Given the description of an element on the screen output the (x, y) to click on. 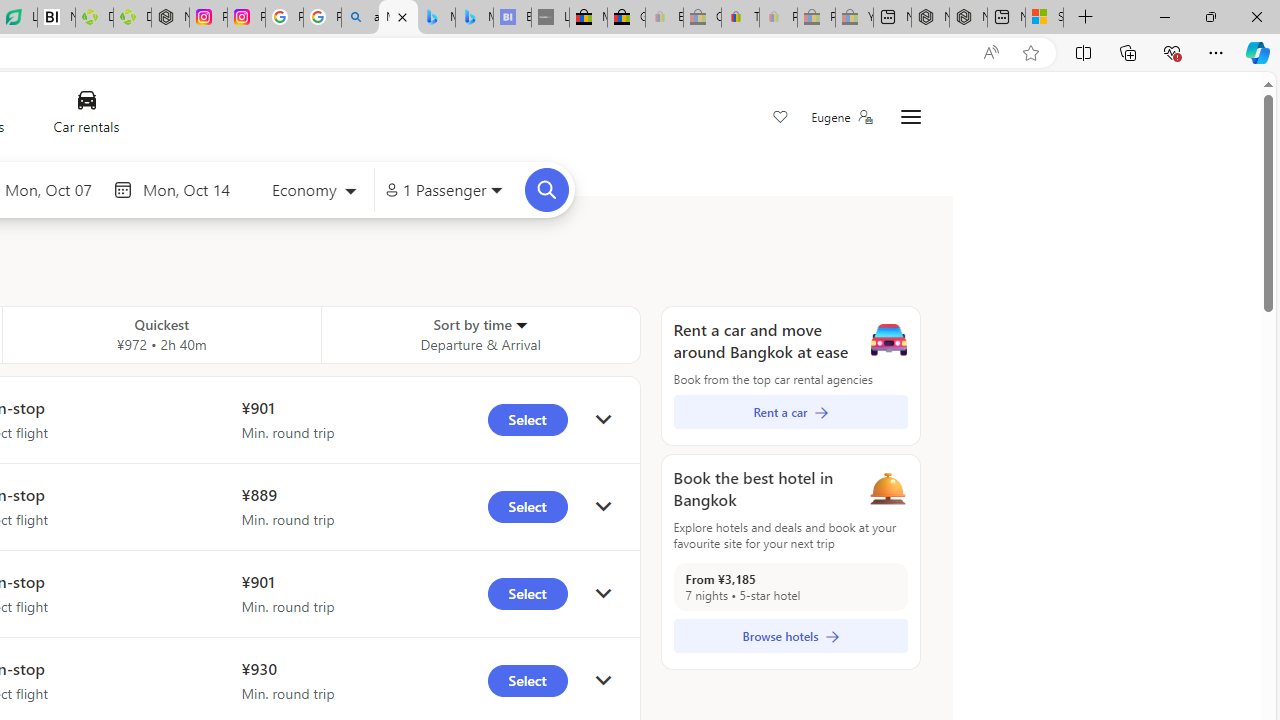
Nordace - Summer Adventures 2024 (967, 17)
End date (191, 189)
Yard, Garden & Outdoor Living - Sleeping (853, 17)
Eugene (841, 117)
alabama high school quarterback dies - Search (359, 17)
Threats and offensive language policy | eBay (740, 17)
Sign in to your Microsoft account (1044, 17)
New tab (1006, 17)
